Given the description of an element on the screen output the (x, y) to click on. 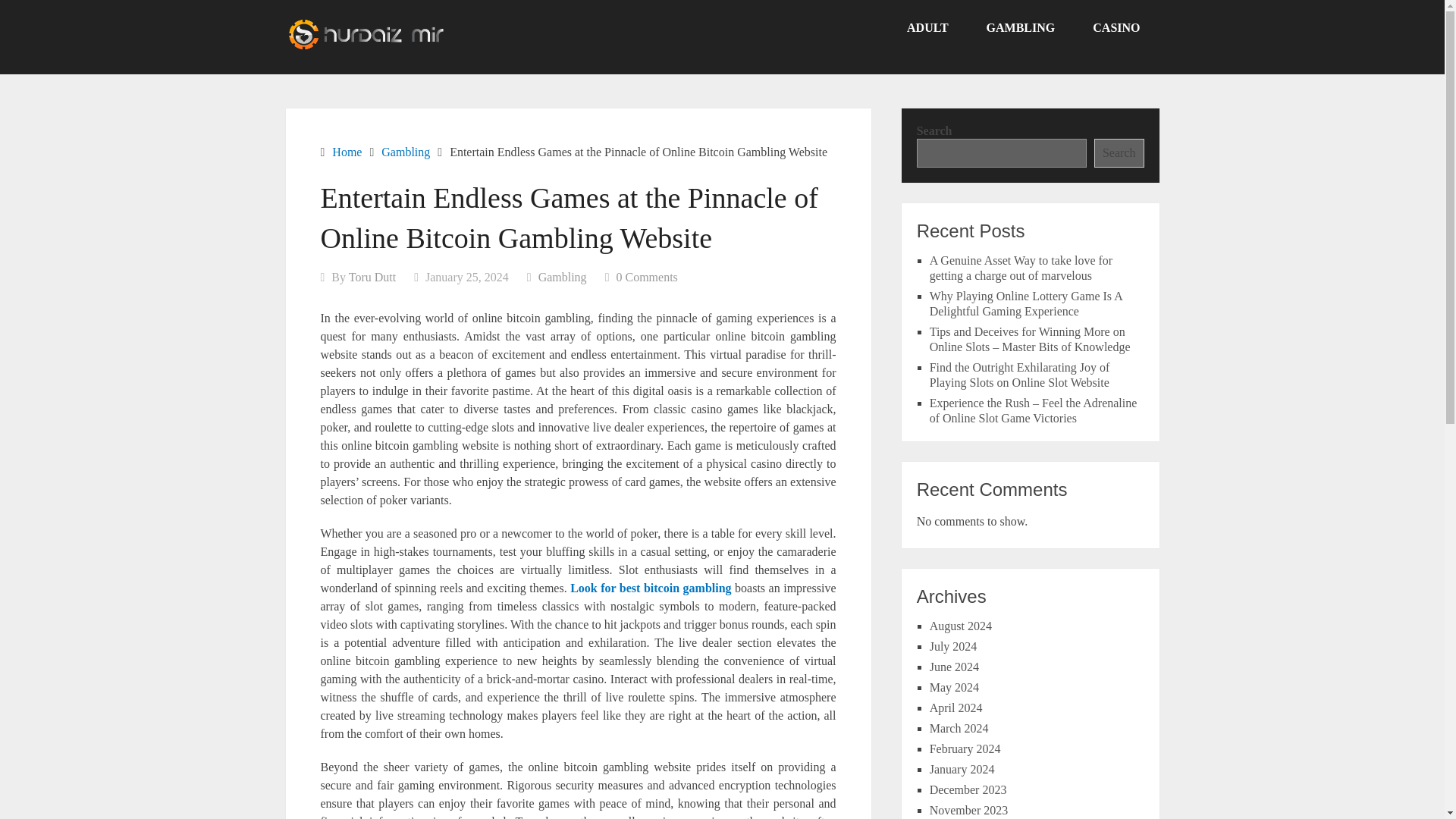
Home (346, 151)
July 2024 (953, 645)
Gambling (405, 151)
November 2023 (969, 809)
March 2024 (959, 727)
Gambling (562, 277)
Toru Dutt (372, 277)
GAMBLING (1021, 28)
December 2023 (968, 789)
